Given the description of an element on the screen output the (x, y) to click on. 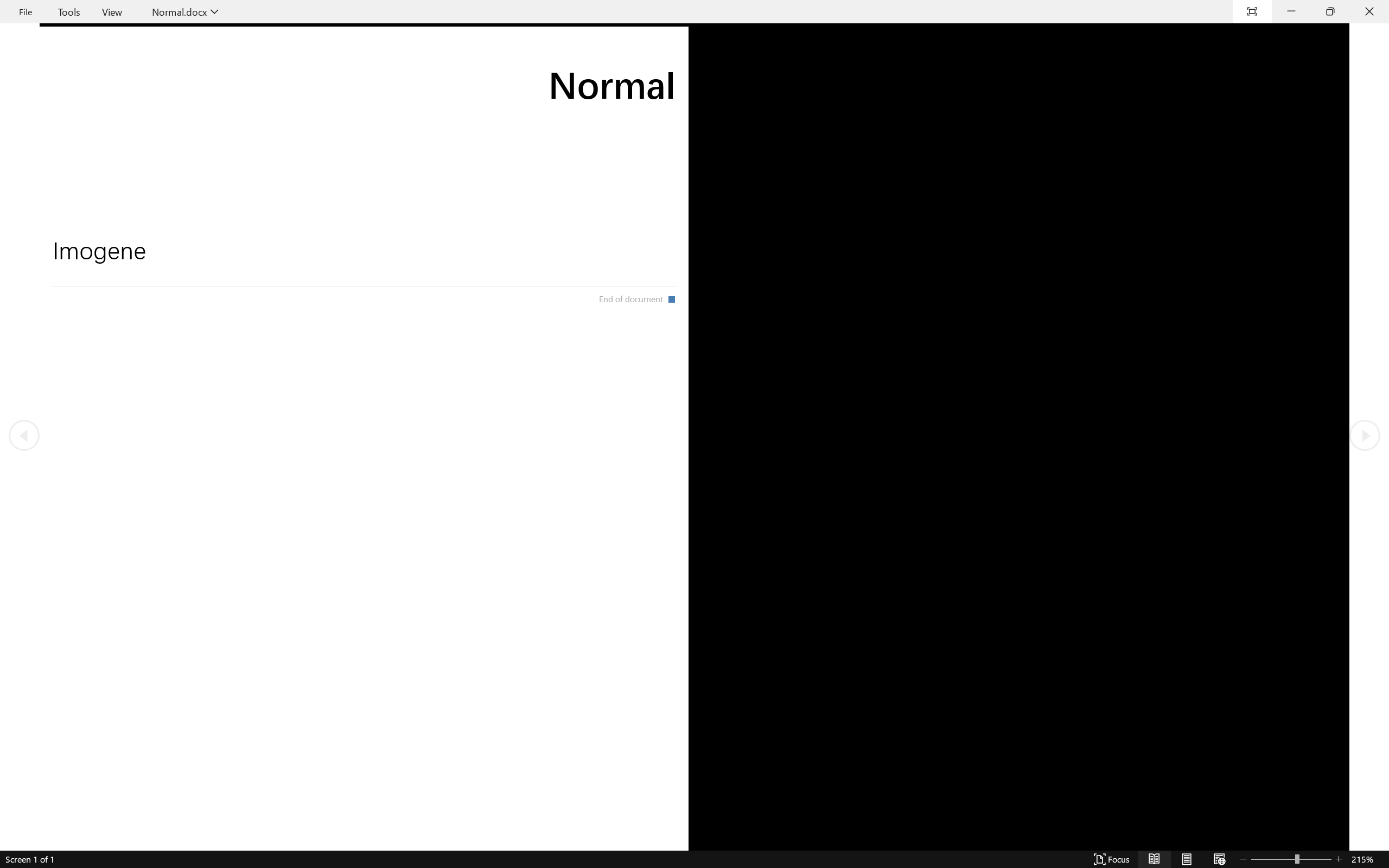
Paragraph... (502, 91)
Curve (550, 72)
Clear Formatting (312, 52)
Increase Font Size (283, 52)
Format Painter (55, 77)
